Given the description of an element on the screen output the (x, y) to click on. 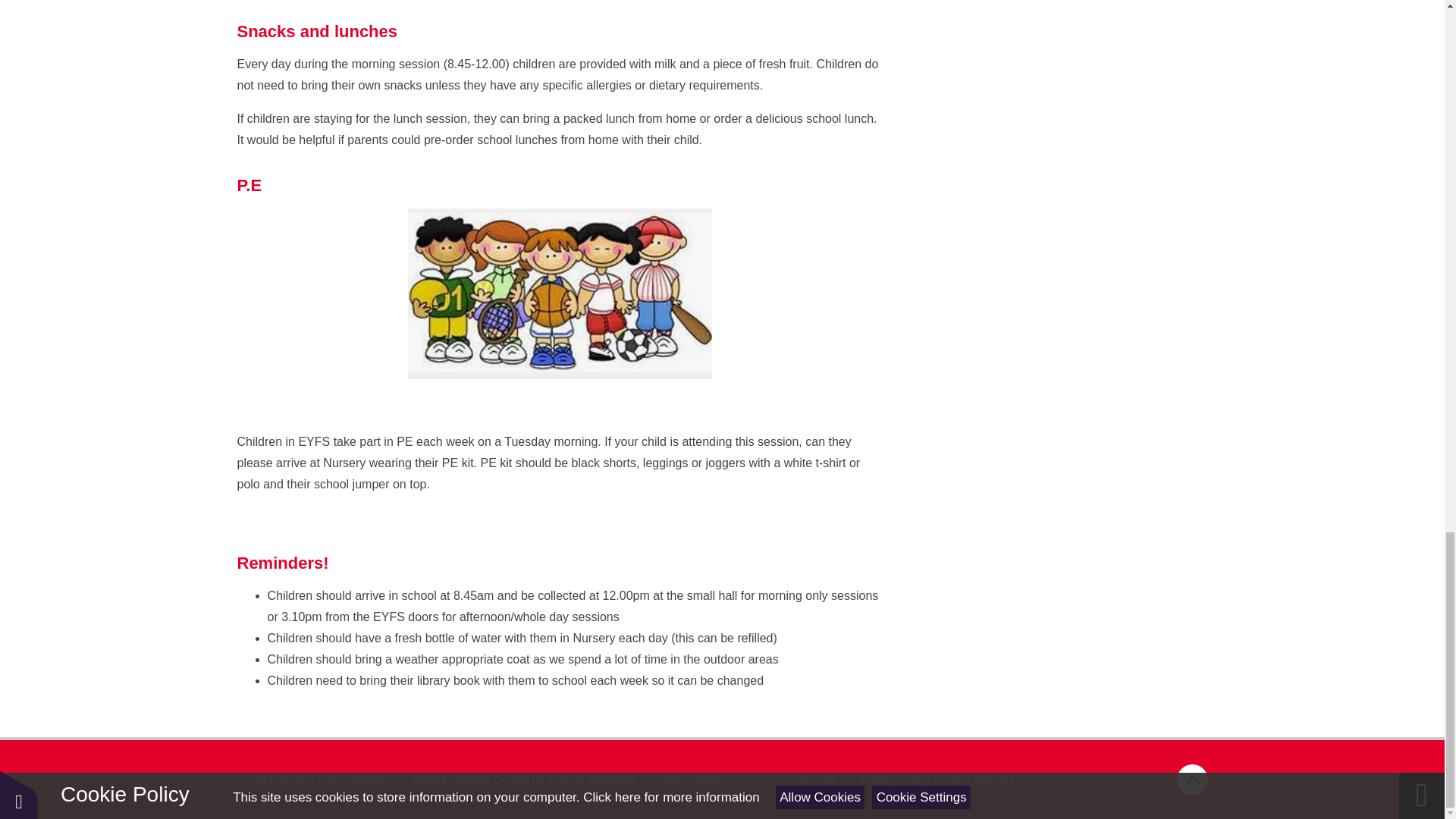
Cookie Settings (973, 779)
